Given the description of an element on the screen output the (x, y) to click on. 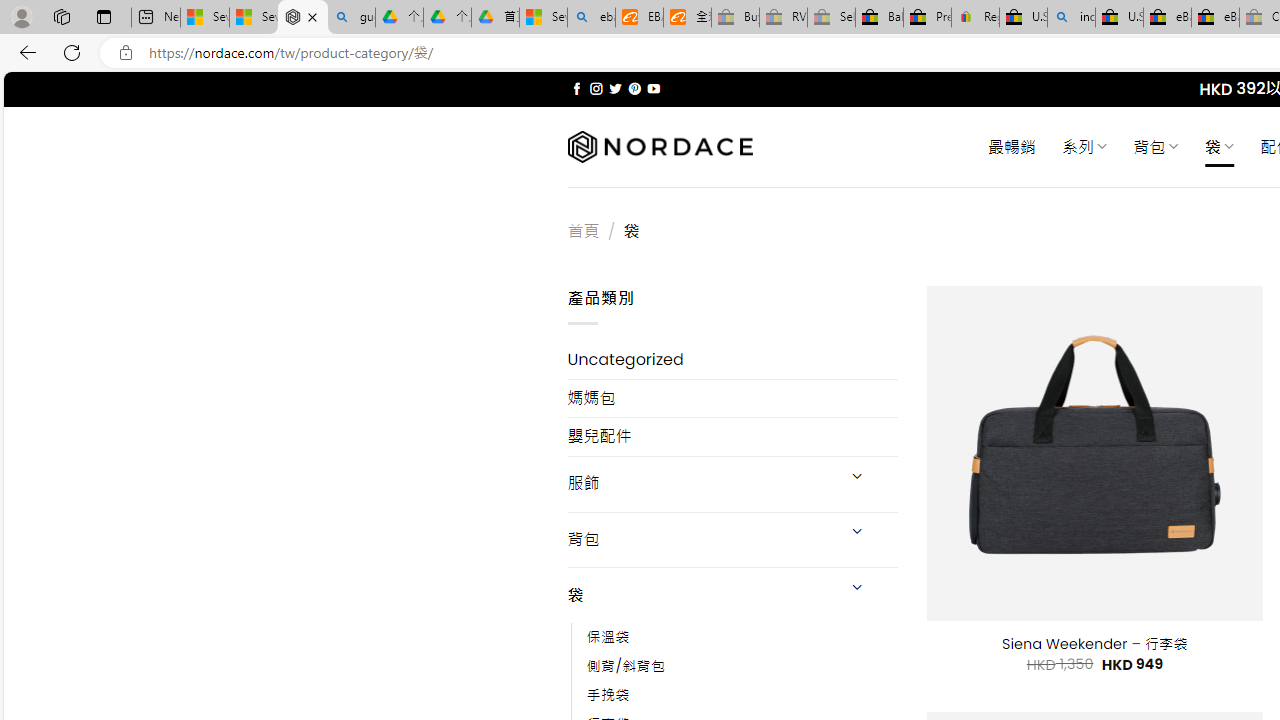
including - Search (1071, 17)
Uncategorized (732, 359)
